Given the description of an element on the screen output the (x, y) to click on. 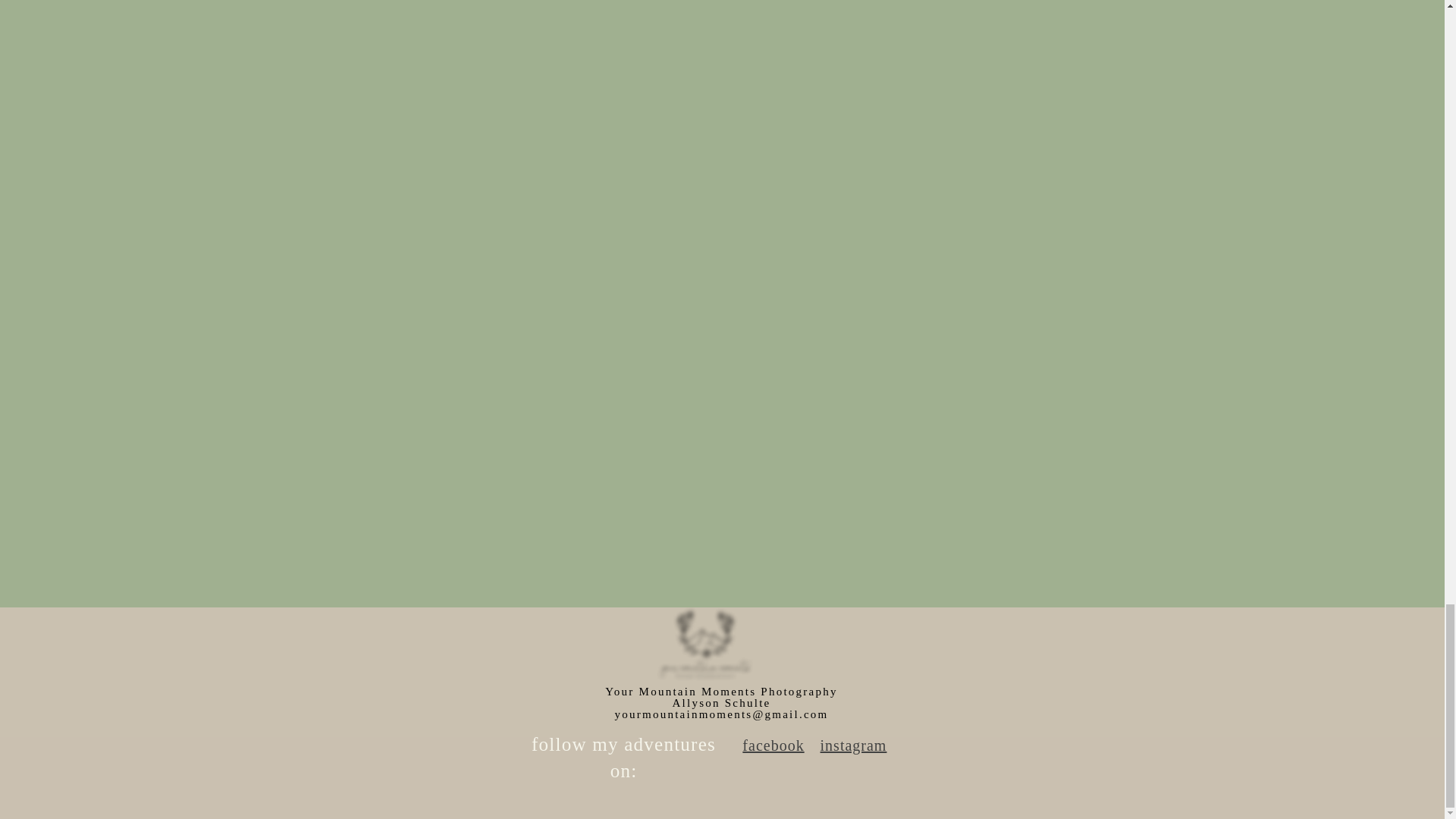
instagram (853, 745)
facebook (772, 745)
